Given the description of an element on the screen output the (x, y) to click on. 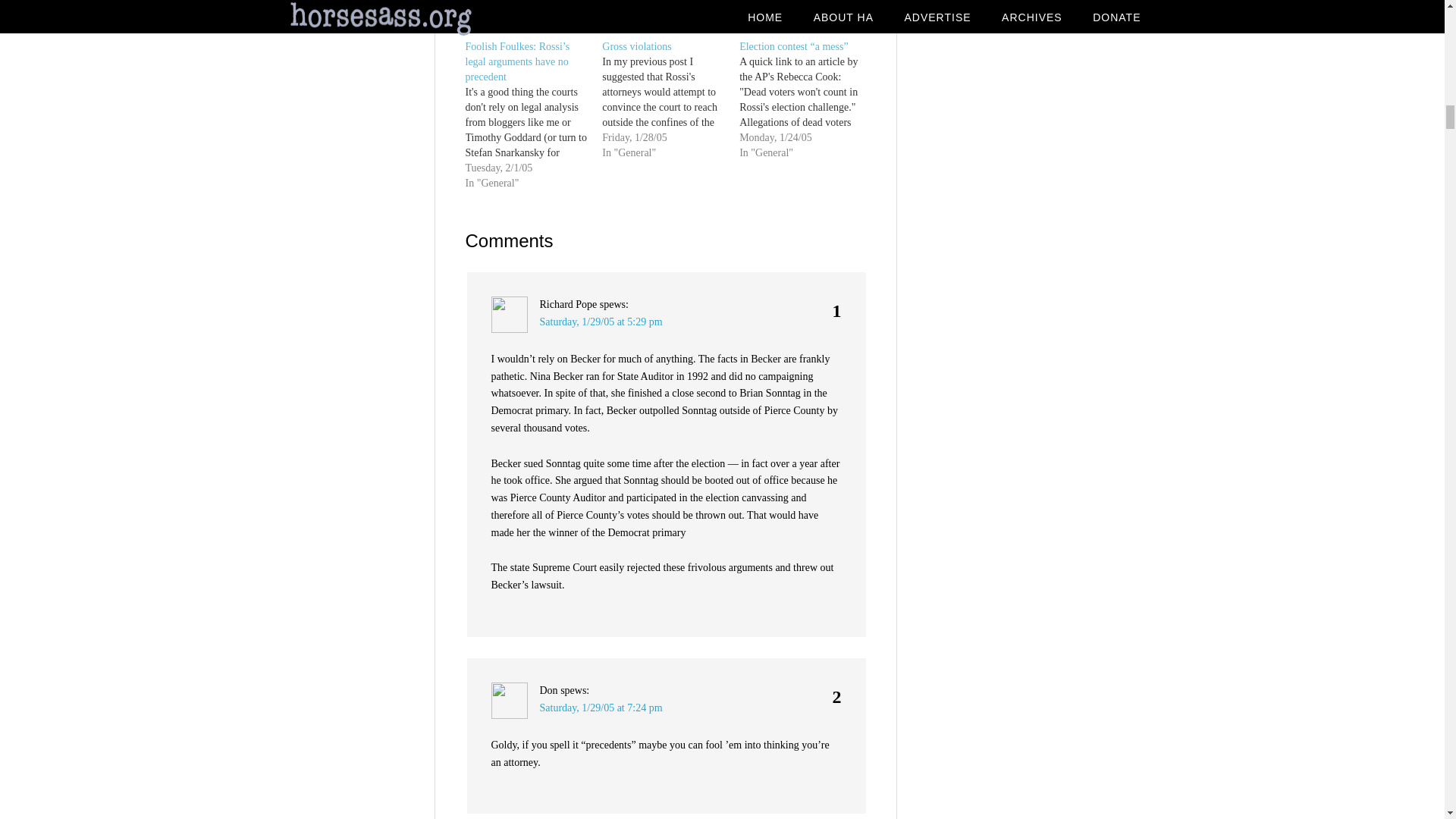
Gross violations (670, 99)
Gross violations (636, 46)
Gross violations (636, 46)
